Given the description of an element on the screen output the (x, y) to click on. 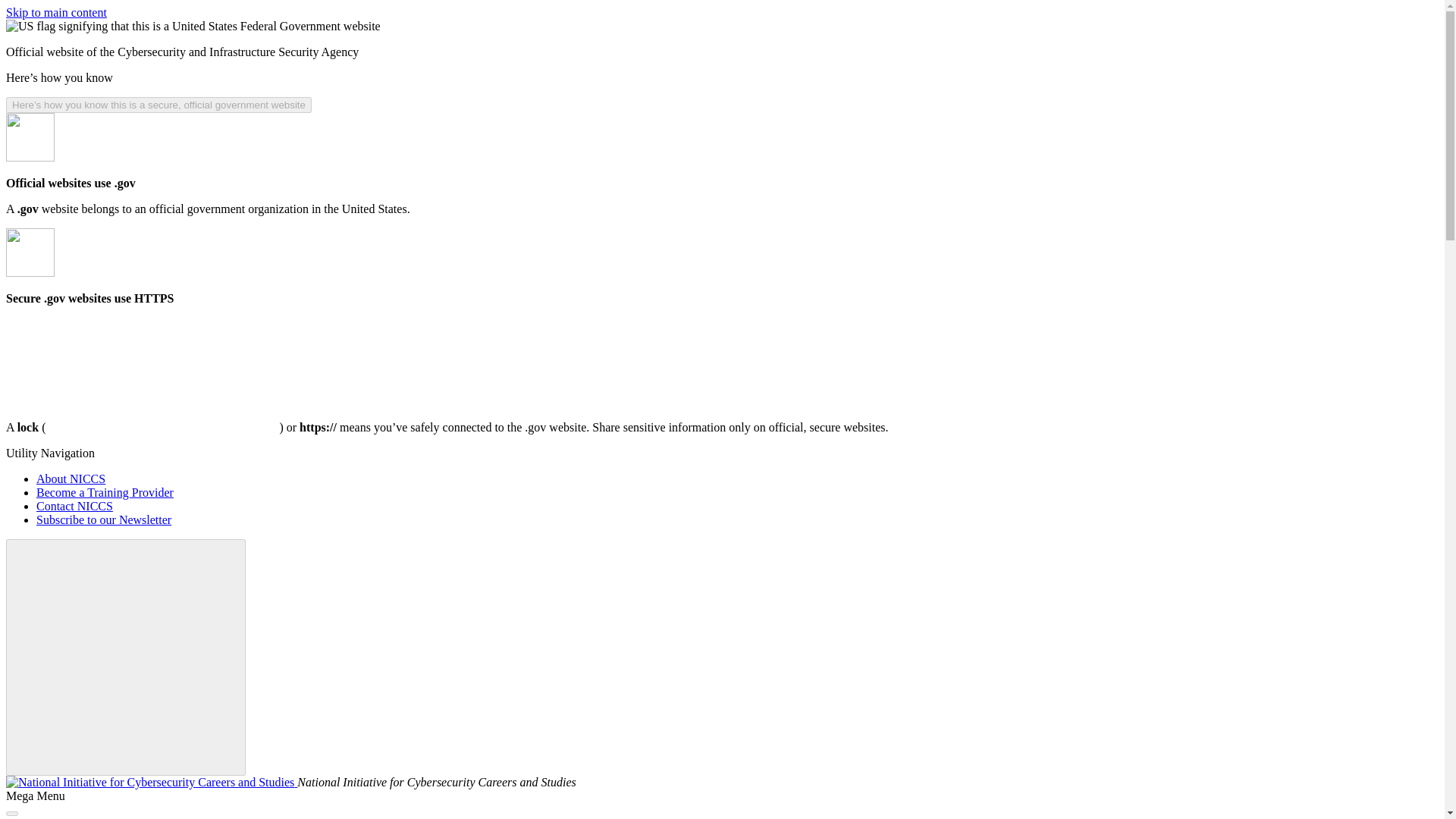
About NICCS (70, 478)
National Initiative for Cybersecurity Careers and Studies (151, 781)
Become a Training Provider (104, 492)
Become a Training Provider (104, 492)
Contact NICCS (74, 505)
Skip to main content (55, 11)
Subscribe to our Newsletter (103, 519)
About NICCS (70, 478)
